Given the description of an element on the screen output the (x, y) to click on. 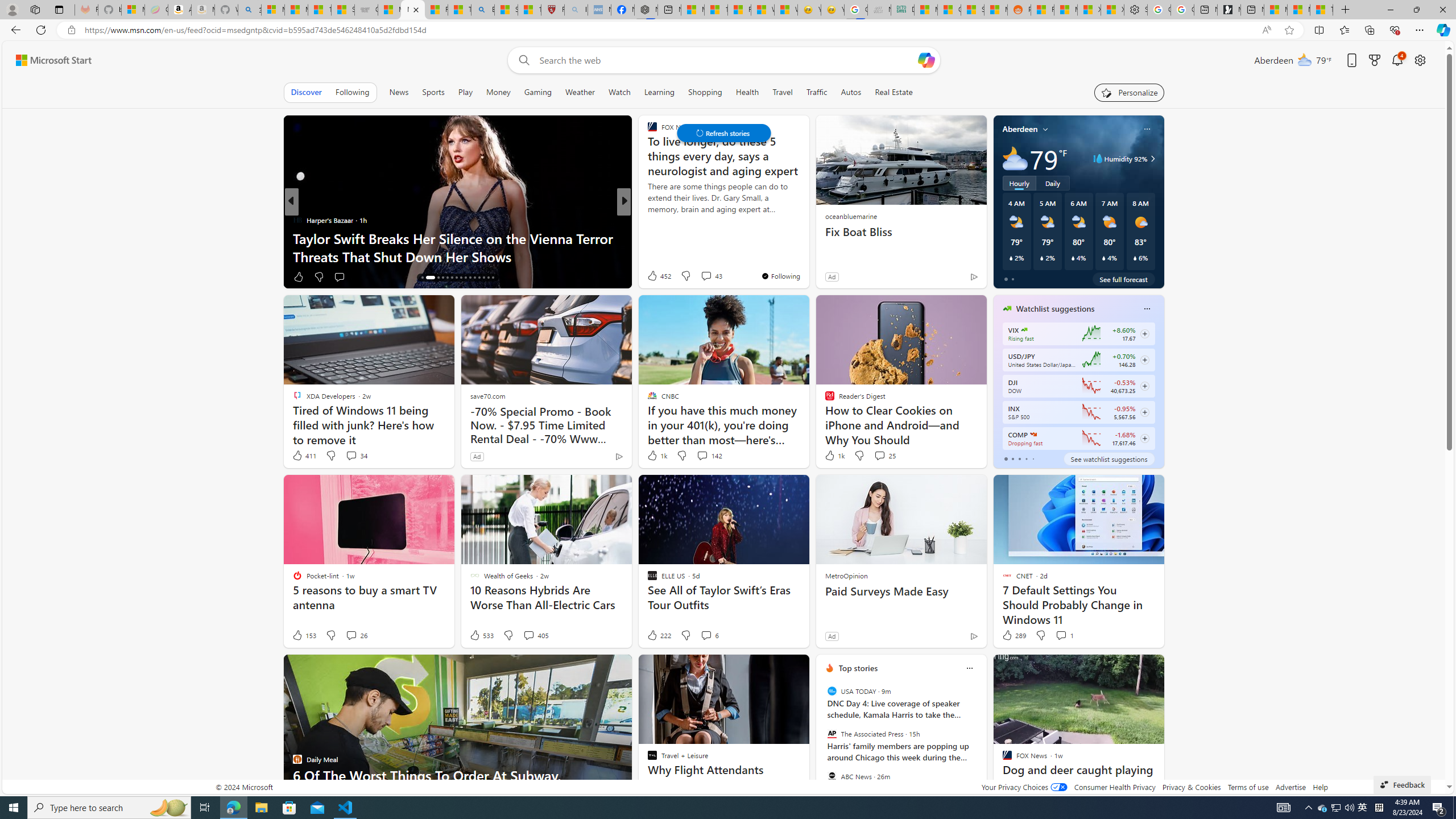
CNET (647, 219)
2k Like (652, 276)
AutomationID: tab-22 (456, 277)
INSIDER (647, 219)
You're following FOX News (780, 275)
Learning (659, 92)
AutomationID: tab-16 (422, 277)
10 Things Scientists Can't Explain and Attribute to God (807, 247)
AutomationID: tab-28 (483, 277)
Class: control (723, 132)
Top stories (857, 668)
Hide this story (1007, 668)
